Given the description of an element on the screen output the (x, y) to click on. 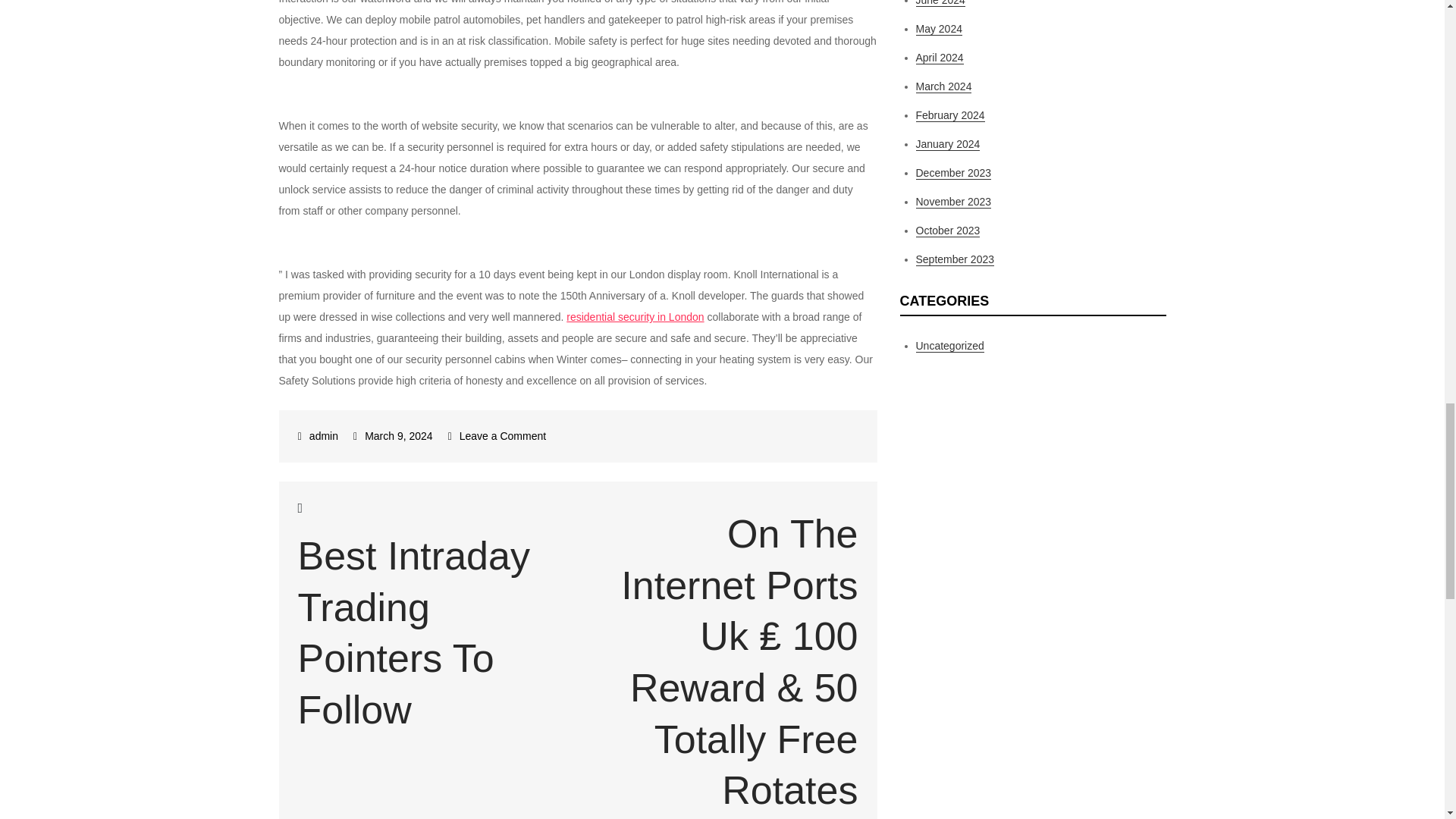
admin (497, 435)
Best Intraday Trading Pointers To Follow (317, 435)
residential security in London (428, 615)
March 9, 2024 (634, 316)
